Given the description of an element on the screen output the (x, y) to click on. 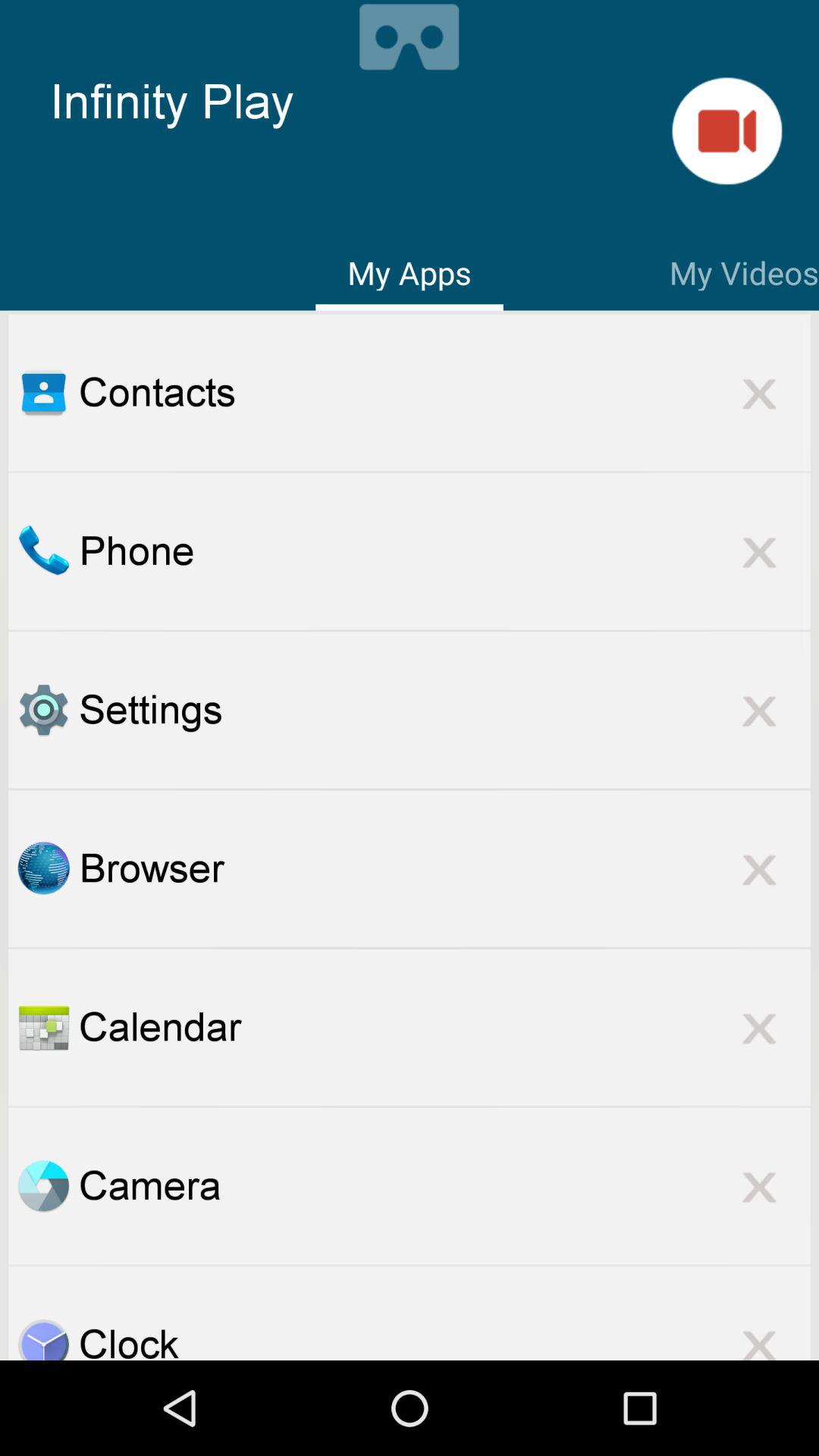
flip until the contacts (444, 392)
